Given the description of an element on the screen output the (x, y) to click on. 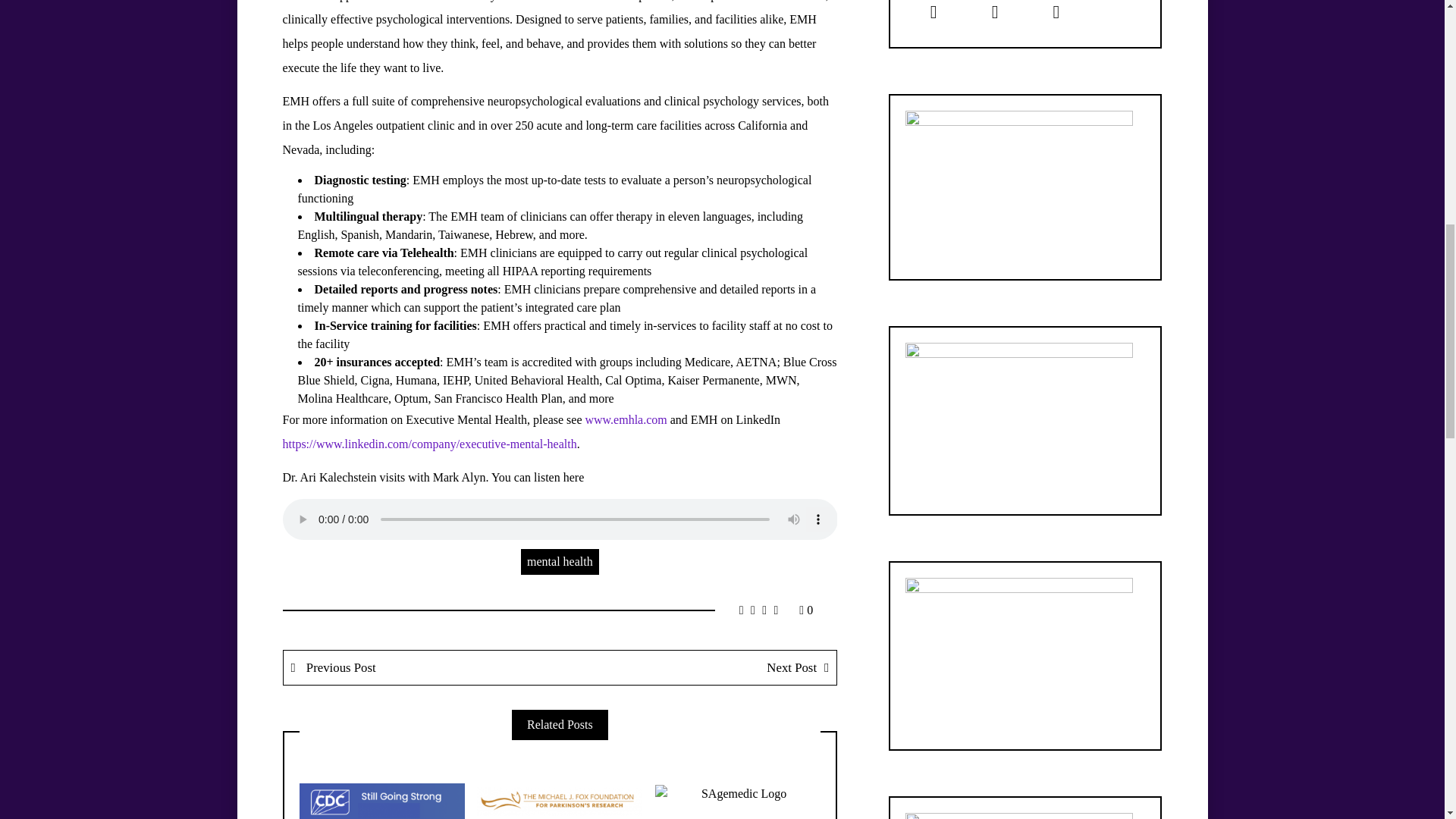
Previous Post (421, 667)
mental health (559, 561)
0 (805, 609)
www.emhla.com (625, 419)
